Given the description of an element on the screen output the (x, y) to click on. 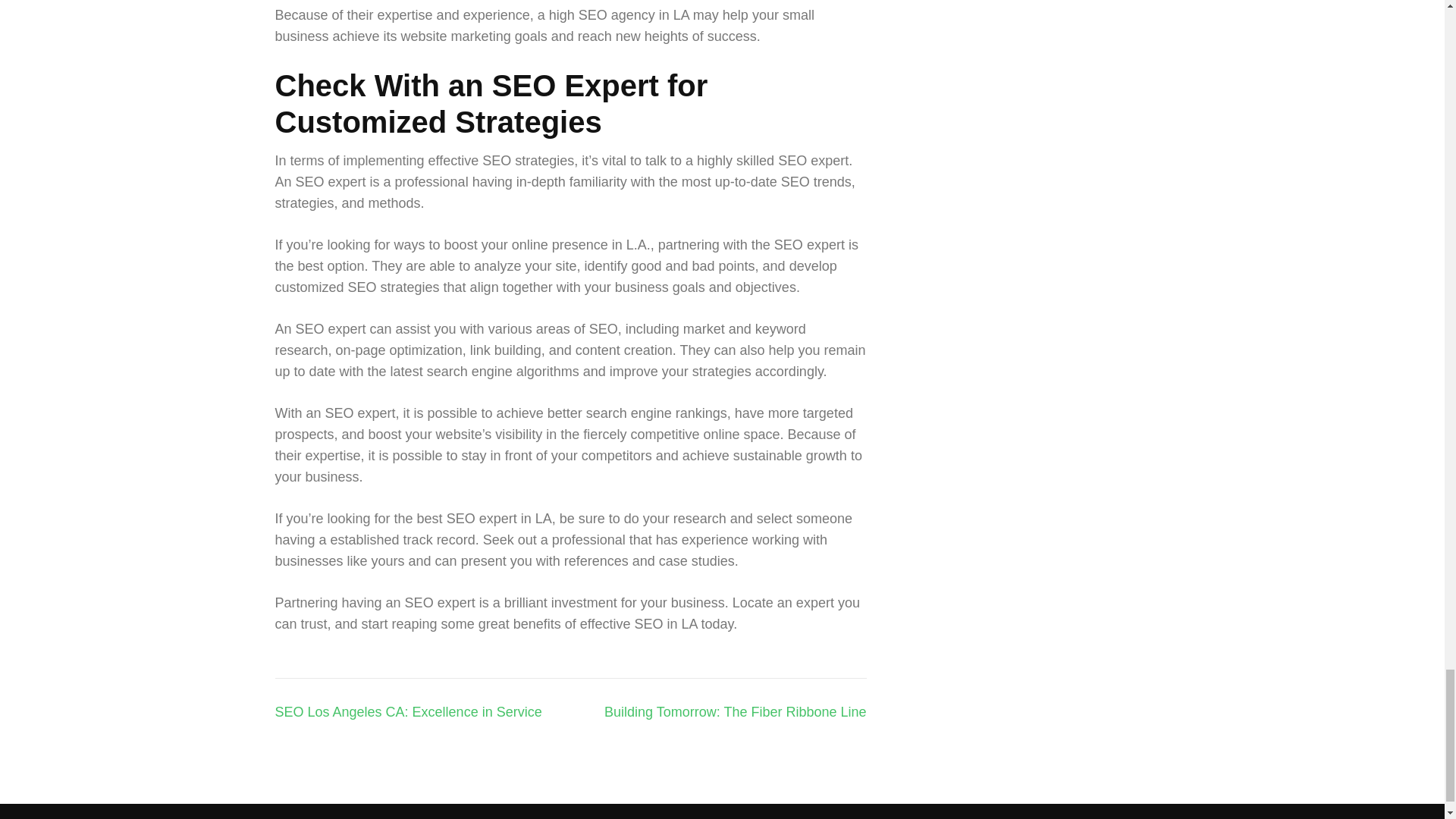
SEO Los Angeles CA: Excellence in Service (408, 711)
Building Tomorrow: The Fiber Ribbone Line (735, 711)
